Given the description of an element on the screen output the (x, y) to click on. 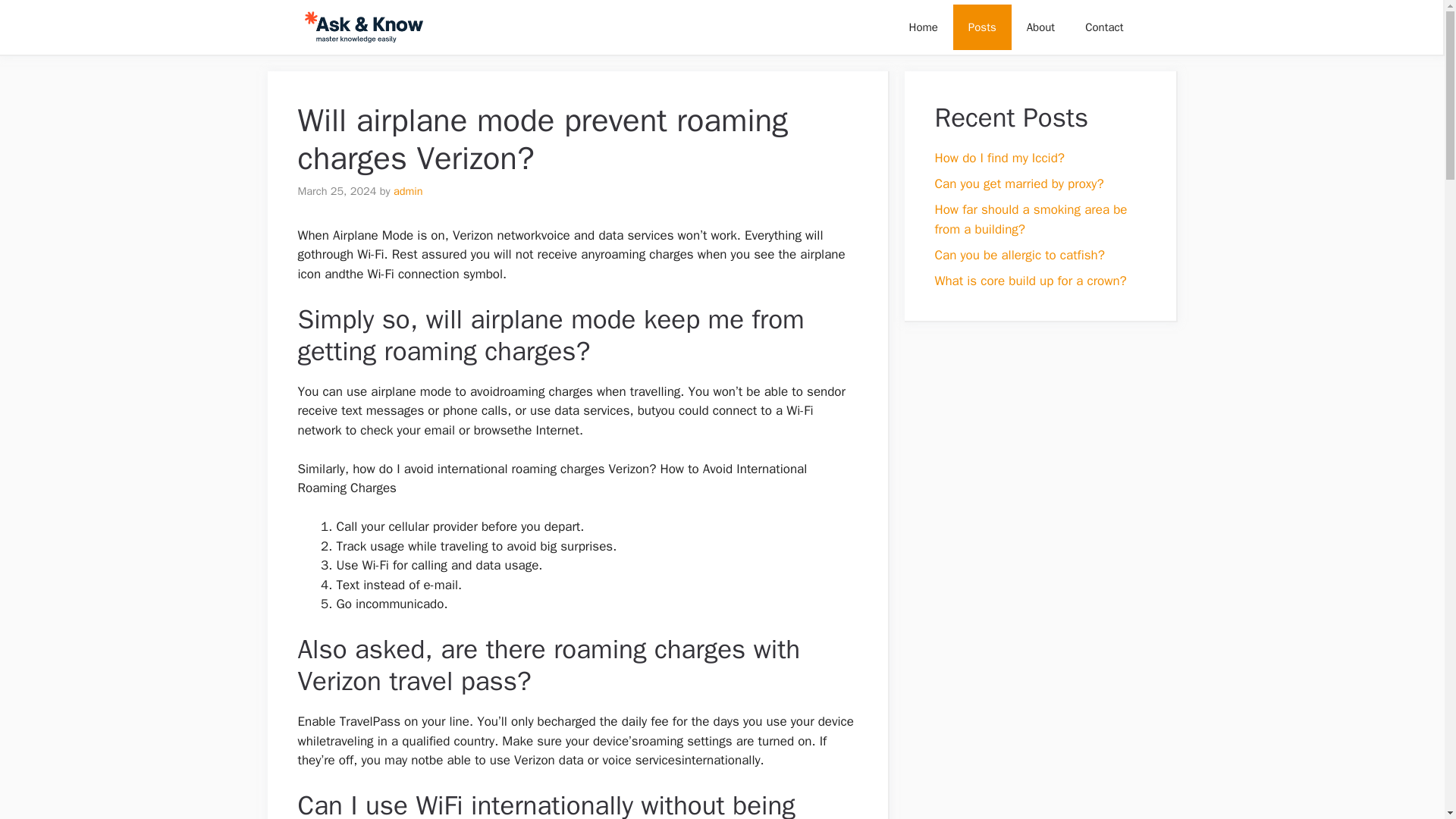
Contact (1104, 26)
Can you get married by proxy? (1018, 183)
Can you be allergic to catfish? (1018, 254)
About (1040, 26)
View all posts by admin (408, 191)
How do I find my Iccid? (999, 157)
admin (408, 191)
Home (922, 26)
How far should a smoking area be from a building? (1030, 219)
What is core build up for a crown? (1029, 280)
